Given the description of an element on the screen output the (x, y) to click on. 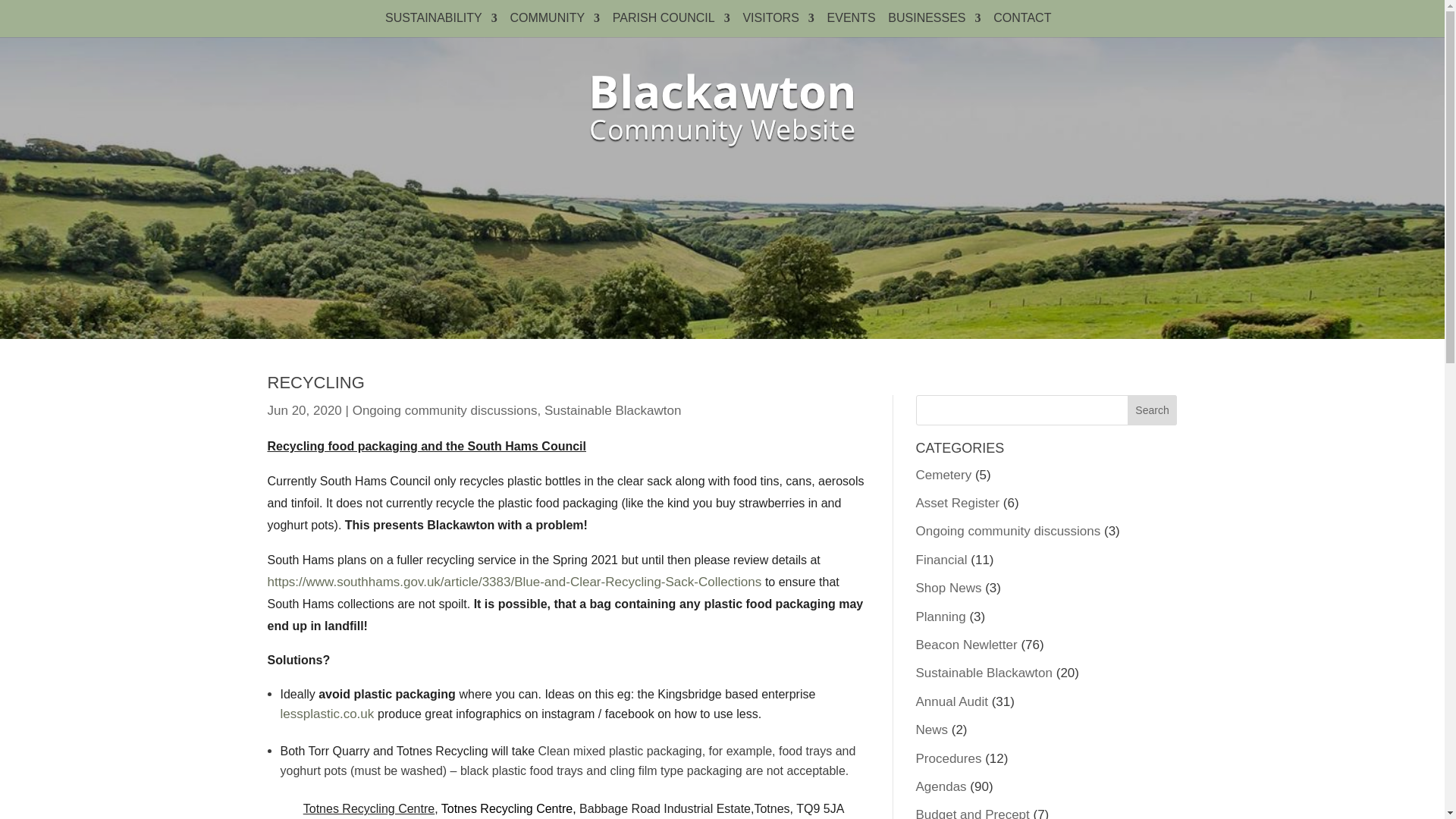
CONTACT   (1025, 24)
Search (1151, 409)
COMMUNITY (554, 24)
EVENTS (851, 24)
PARISH COUNCIL (671, 24)
SUSTAINABILITY (441, 24)
VISITORS (777, 24)
BUSINESSES (933, 24)
